Given the description of an element on the screen output the (x, y) to click on. 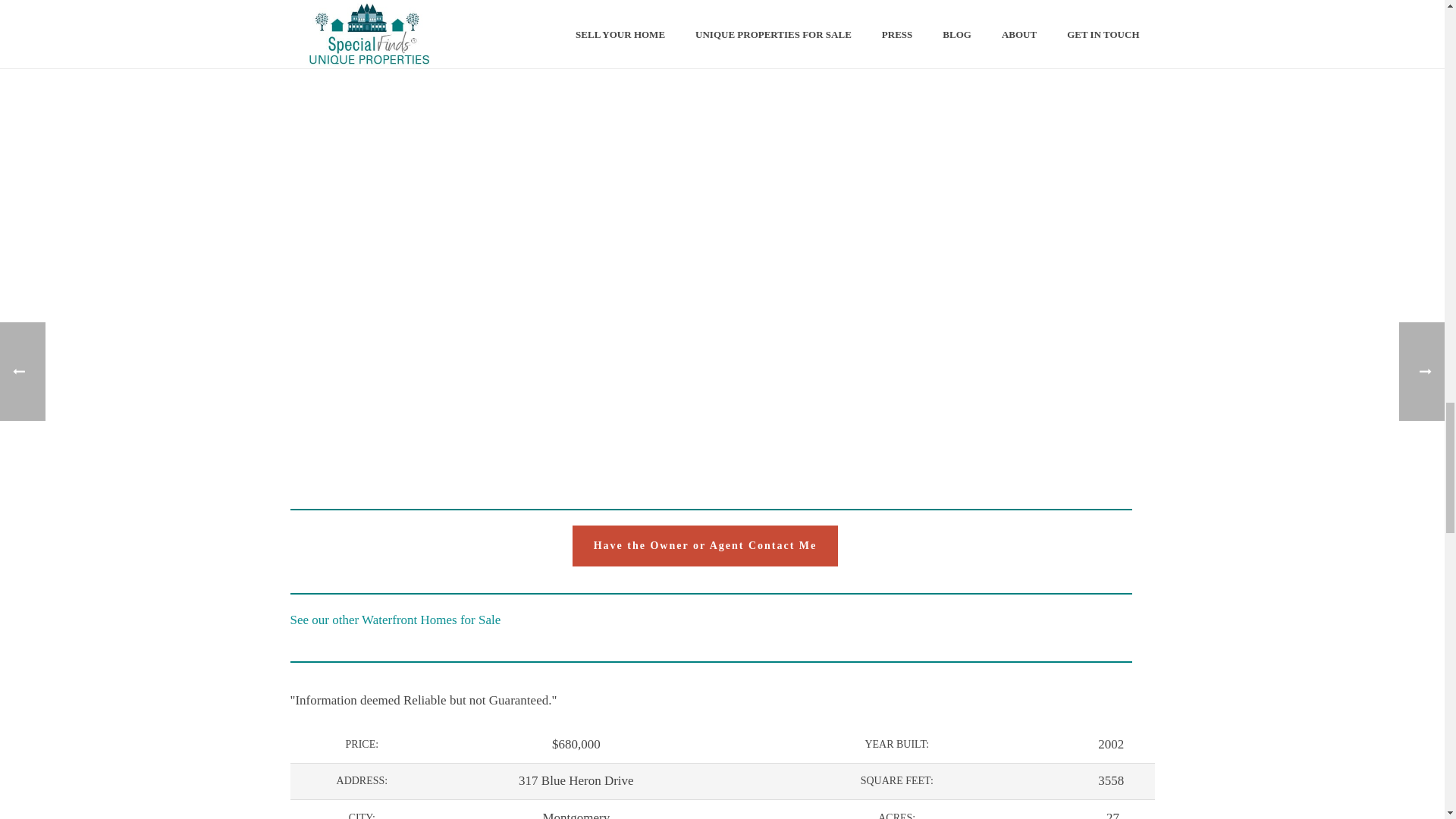
Have the Owner or Agent Contact Me (705, 545)
